Given the description of an element on the screen output the (x, y) to click on. 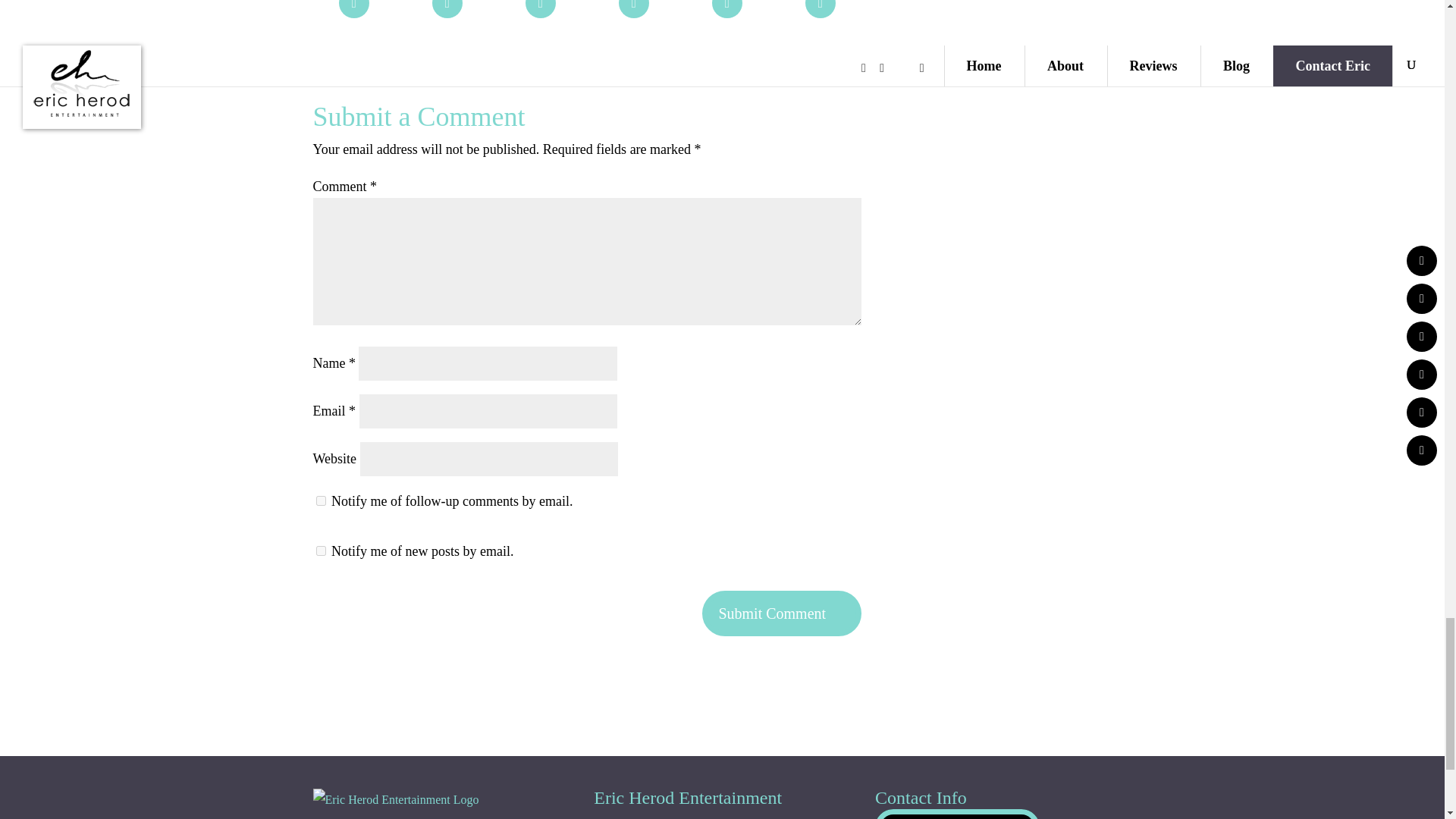
Check Availability (957, 814)
subscribe (319, 551)
subscribe (319, 501)
Submit Comment (781, 613)
Submit Comment (781, 613)
